Given the description of an element on the screen output the (x, y) to click on. 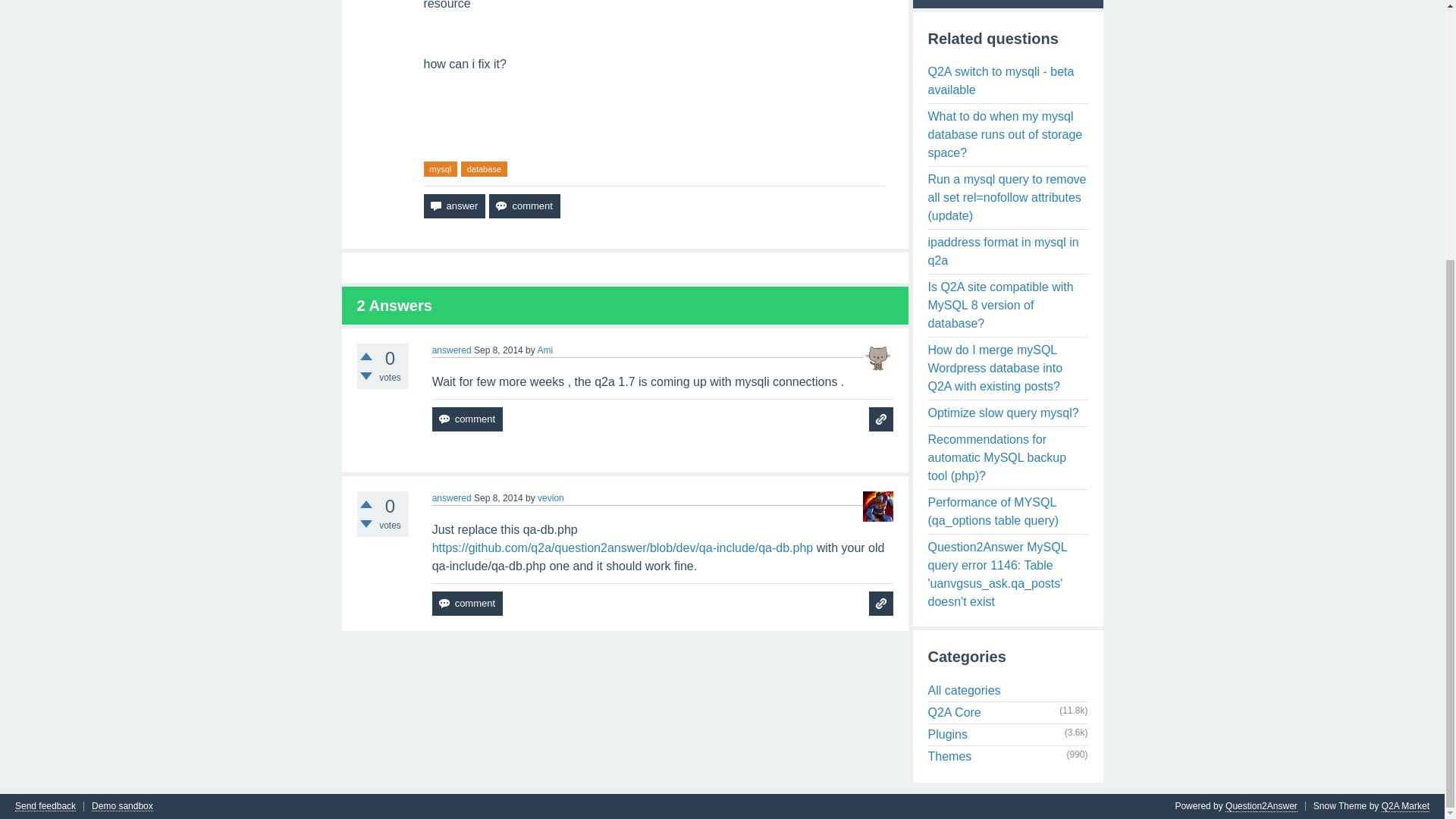
Add a comment on this answer (467, 419)
Add a comment on this question (524, 206)
Click to vote down (365, 376)
answer (453, 206)
ask related question (881, 419)
database (483, 169)
Ami (545, 349)
Click to vote down (365, 523)
Answer this question (453, 206)
comment (524, 206)
ask related question (881, 419)
Questions about plugins created for Q2A. (948, 734)
ask related question (881, 603)
Click to vote up (365, 356)
comment (467, 603)
